Given the description of an element on the screen output the (x, y) to click on. 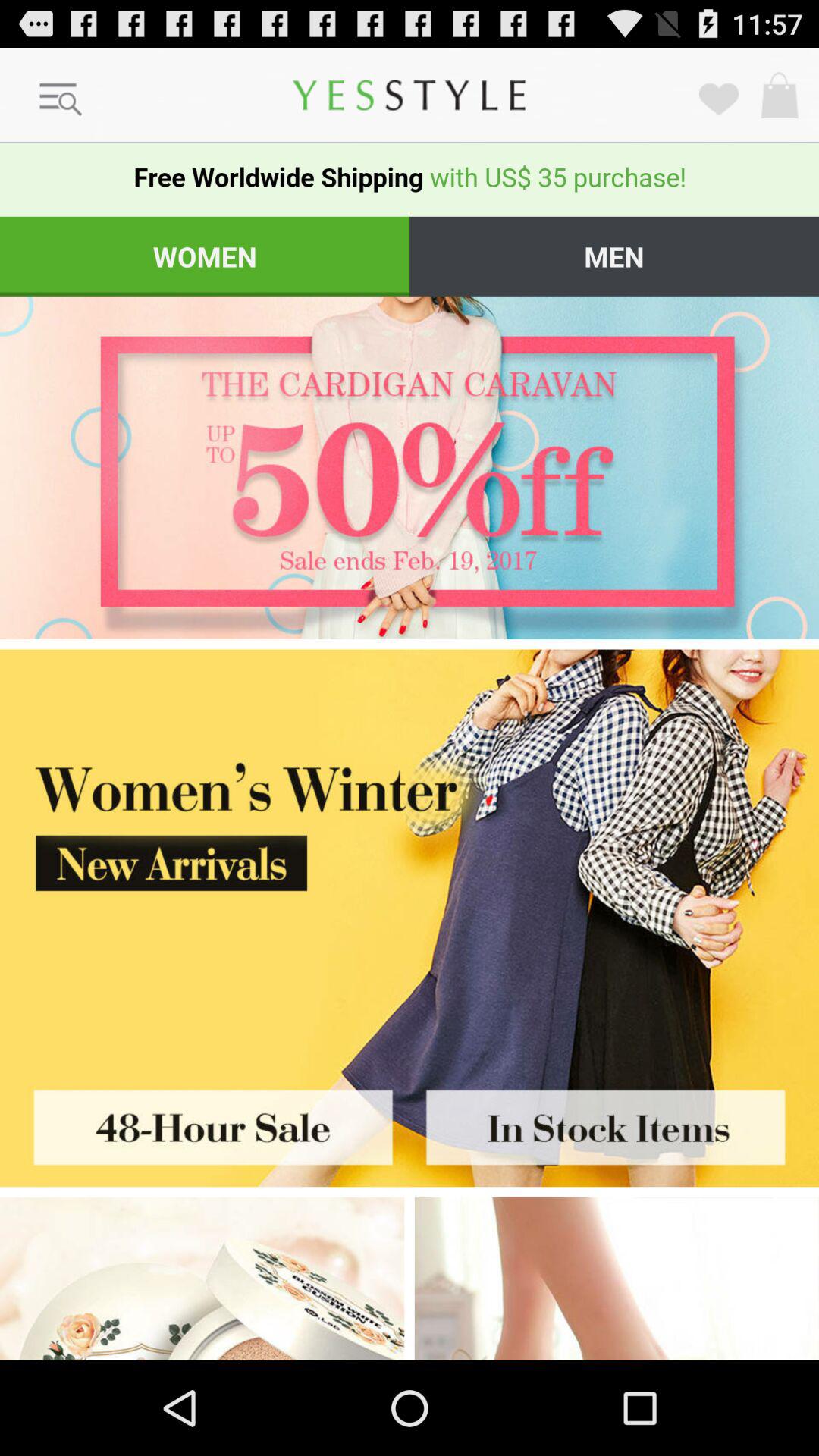
explore winter wear for women (616, 1278)
